Given the description of an element on the screen output the (x, y) to click on. 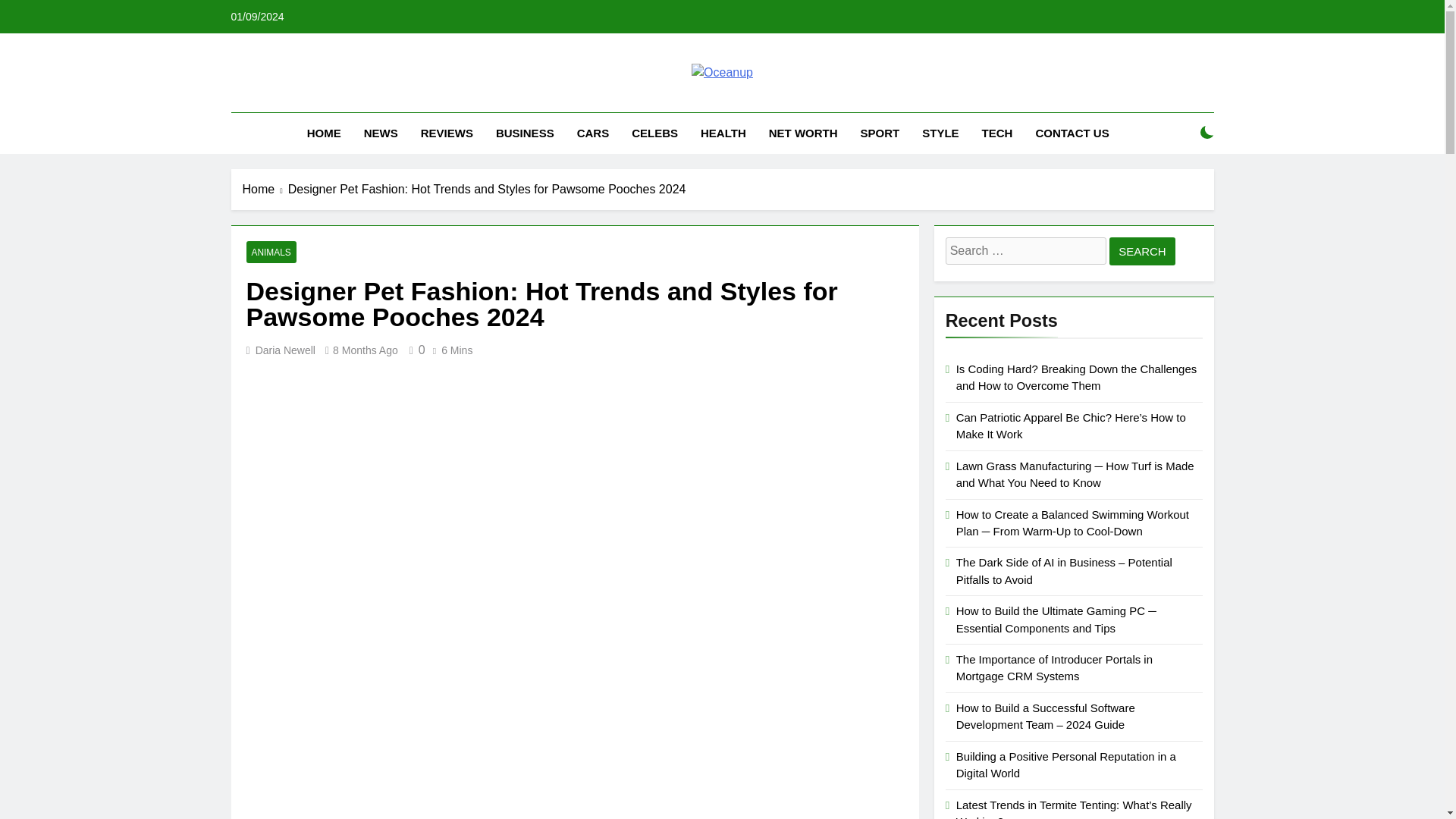
Daria Newell (285, 349)
CONTACT US (1071, 133)
Oceanup (545, 98)
8 Months Ago (365, 349)
NET WORTH (802, 133)
TECH (998, 133)
0 (414, 349)
ANIMALS (270, 251)
REVIEWS (446, 133)
HEALTH (722, 133)
